Given the description of an element on the screen output the (x, y) to click on. 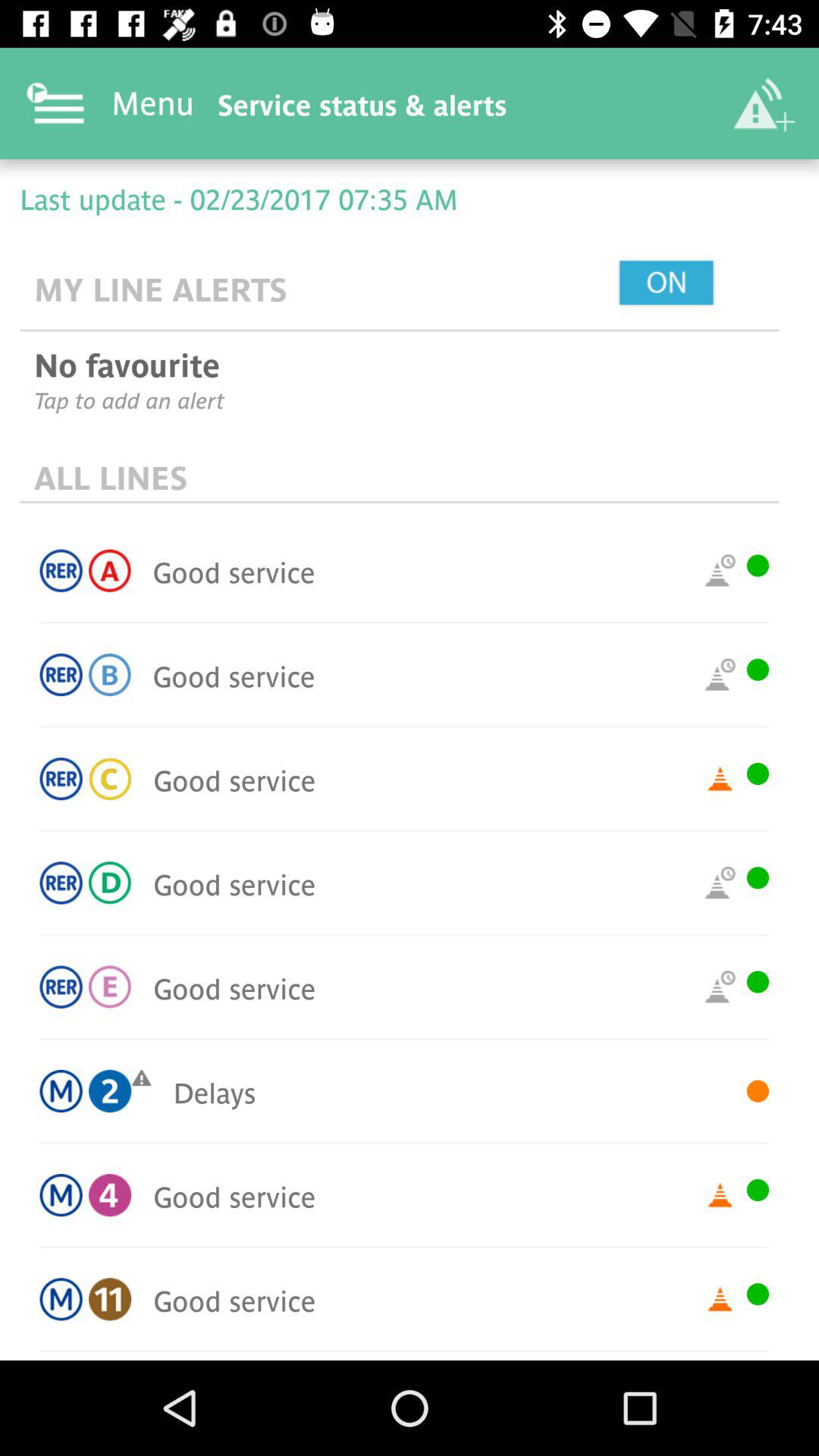
click item to the right of the service status & alerts icon (763, 103)
